Given the description of an element on the screen output the (x, y) to click on. 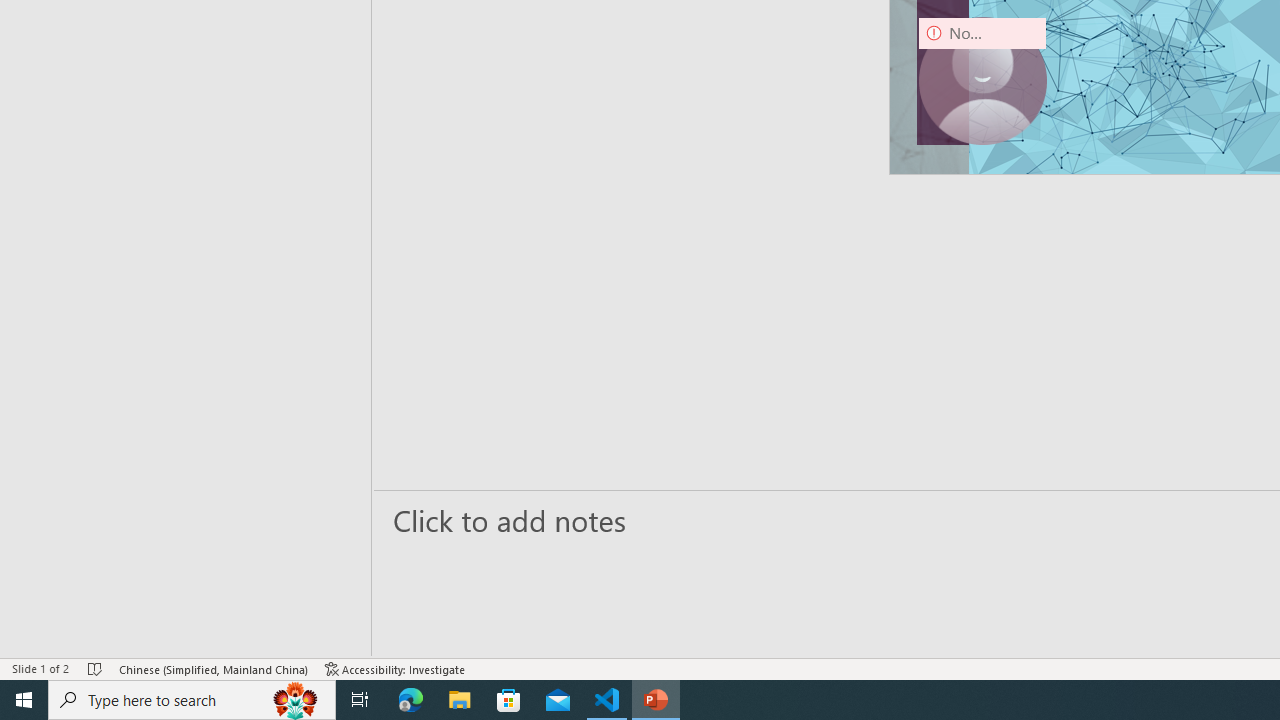
Camera 9, No camera detected. (982, 80)
